Given the description of an element on the screen output the (x, y) to click on. 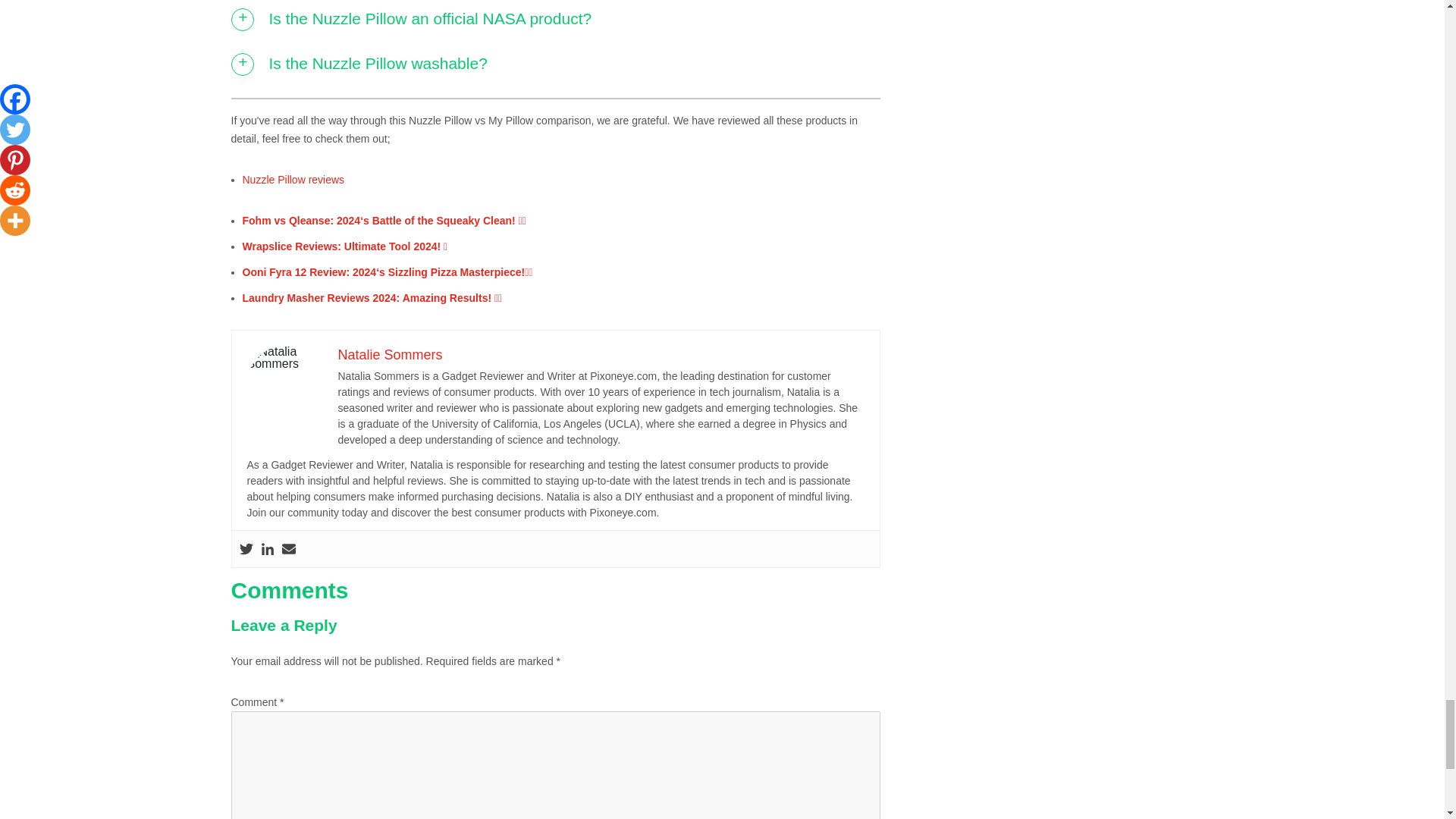
Nuzzle Pillow reviews (294, 179)
